Given the description of an element on the screen output the (x, y) to click on. 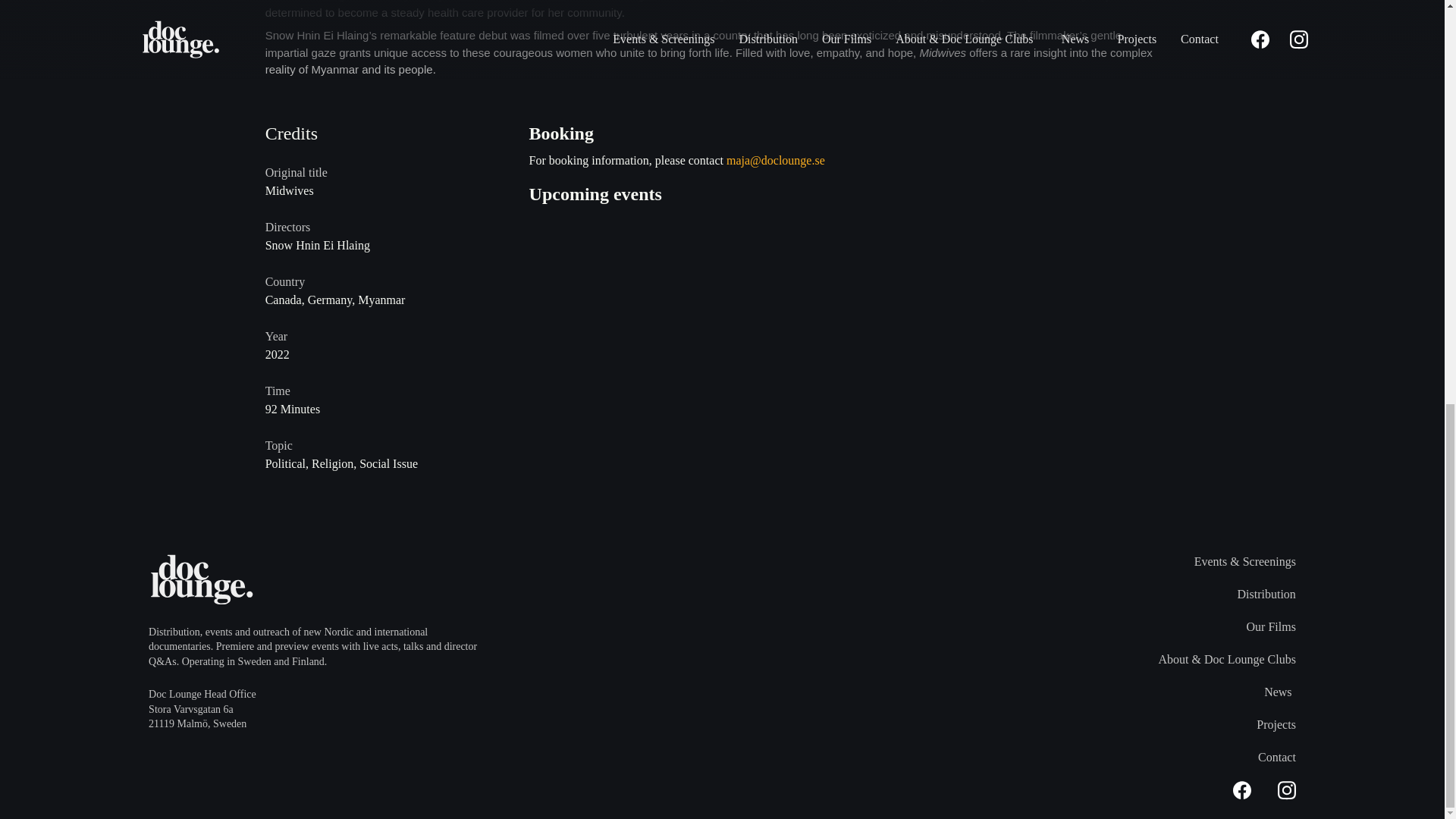
Myanmar (381, 298)
Canada, (285, 298)
2022 (391, 354)
Snow Hnin Ei Hlaing (316, 244)
Germany, (332, 298)
